Given the description of an element on the screen output the (x, y) to click on. 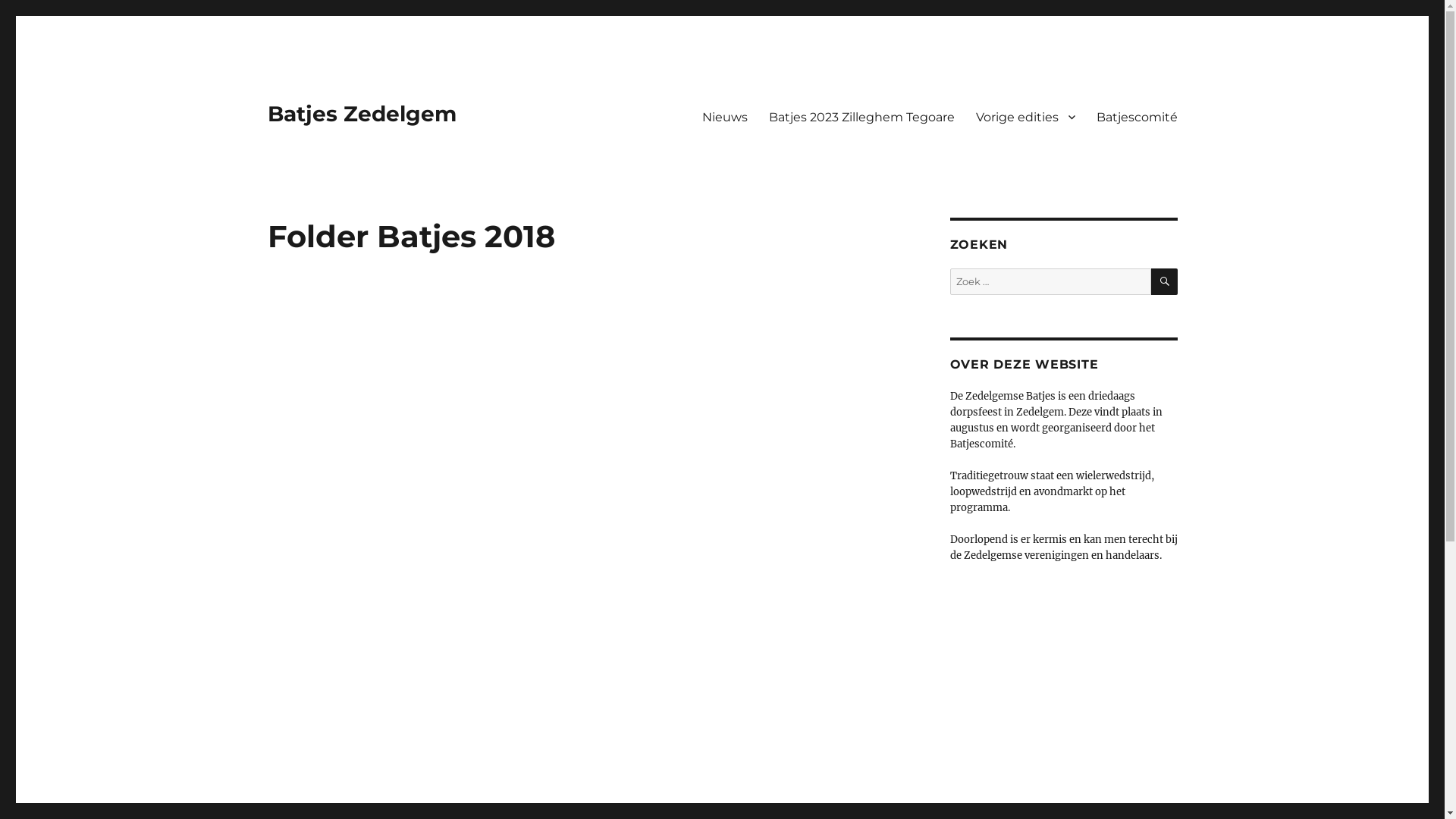
ZOEK Element type: text (1164, 281)
Nieuws Element type: text (724, 116)
Vorige edities Element type: text (1024, 116)
Batjes 2023 Zilleghem Tegoare Element type: text (861, 116)
Batjes Zedelgem Element type: text (360, 113)
